Given the description of an element on the screen output the (x, y) to click on. 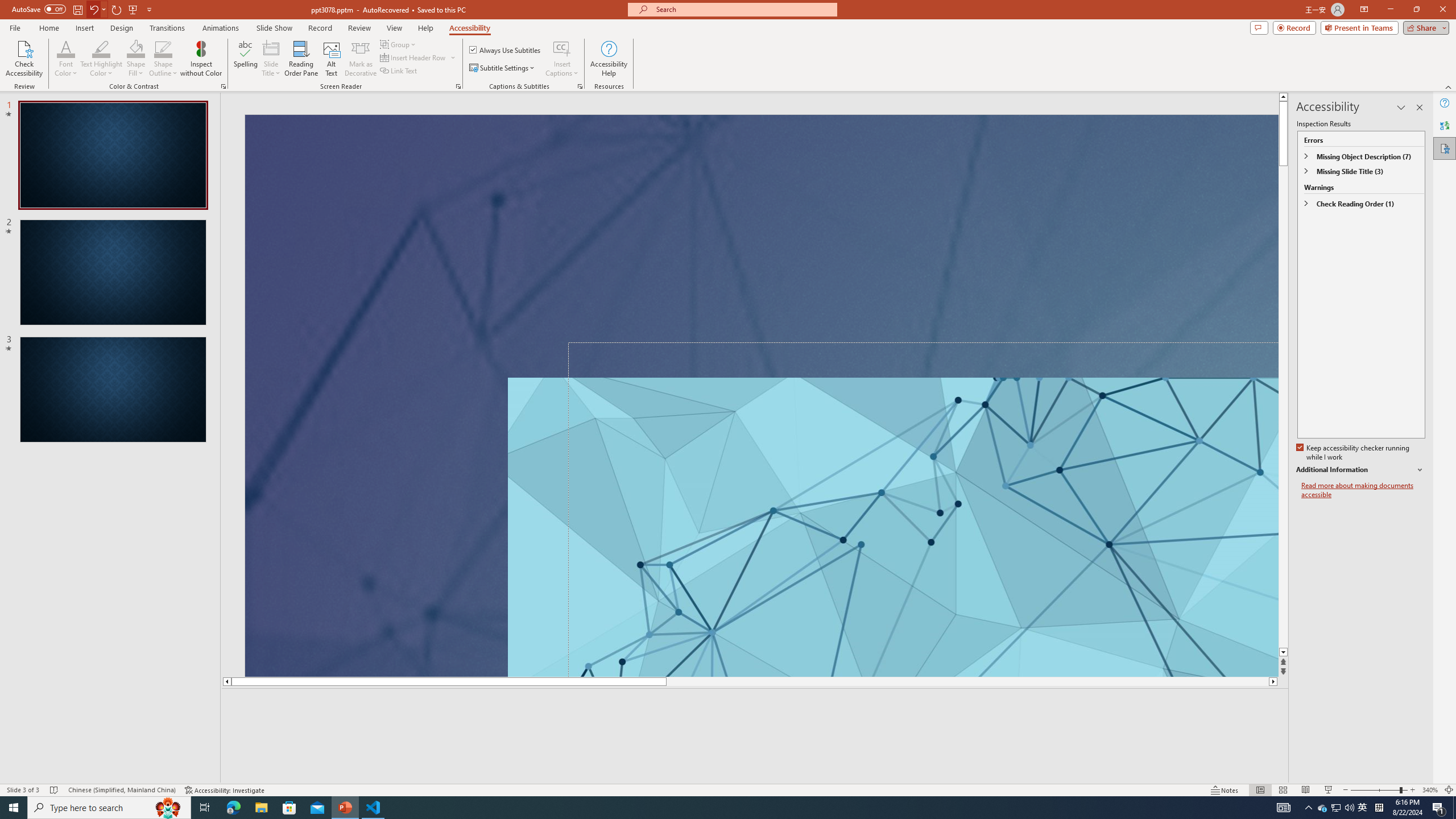
Group (398, 44)
Subtitle Settings (502, 67)
Zoom 340% (1430, 790)
